Given the description of an element on the screen output the (x, y) to click on. 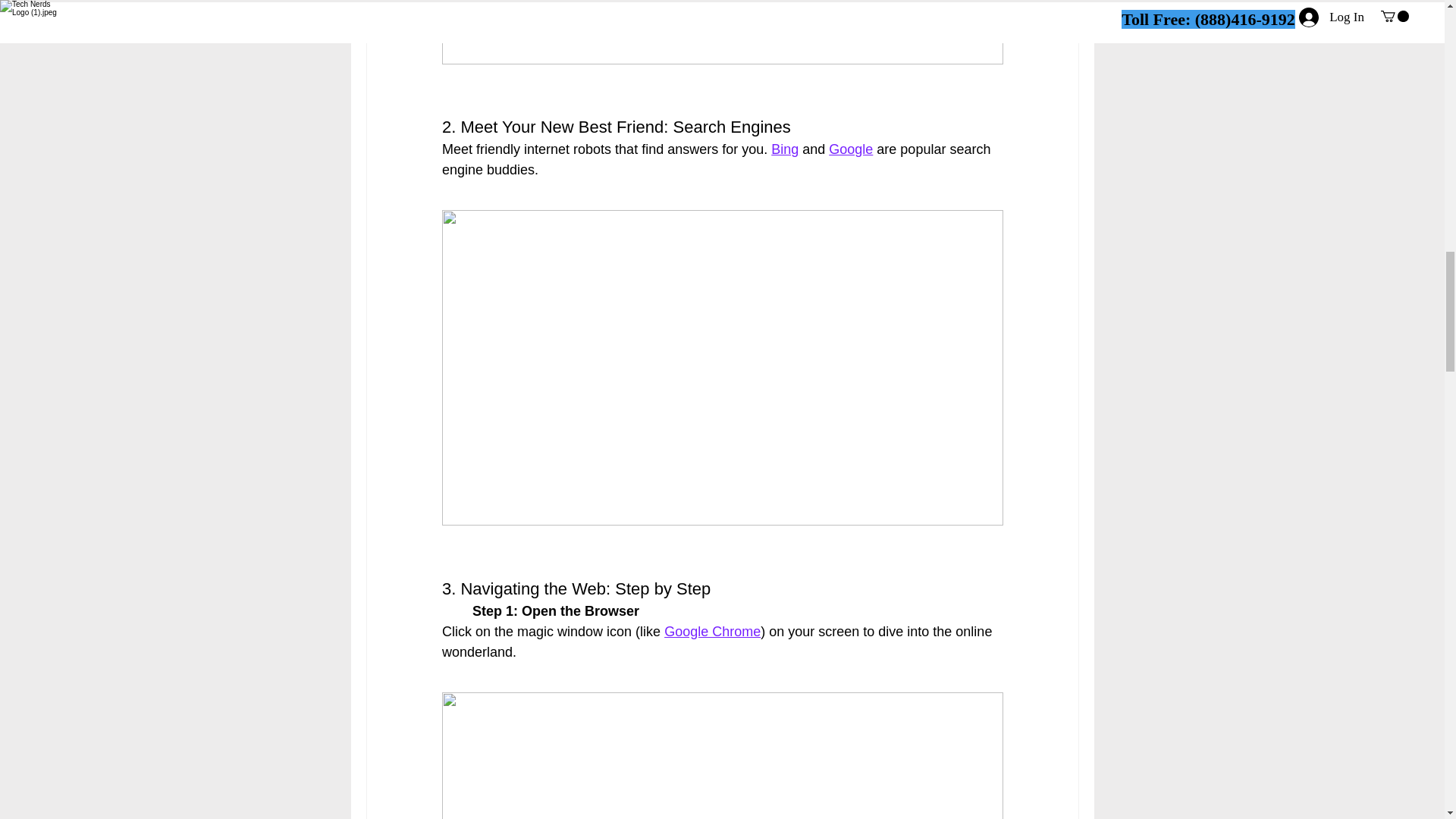
Google Chrome (711, 631)
Bing (784, 149)
Google (850, 149)
